Given the description of an element on the screen output the (x, y) to click on. 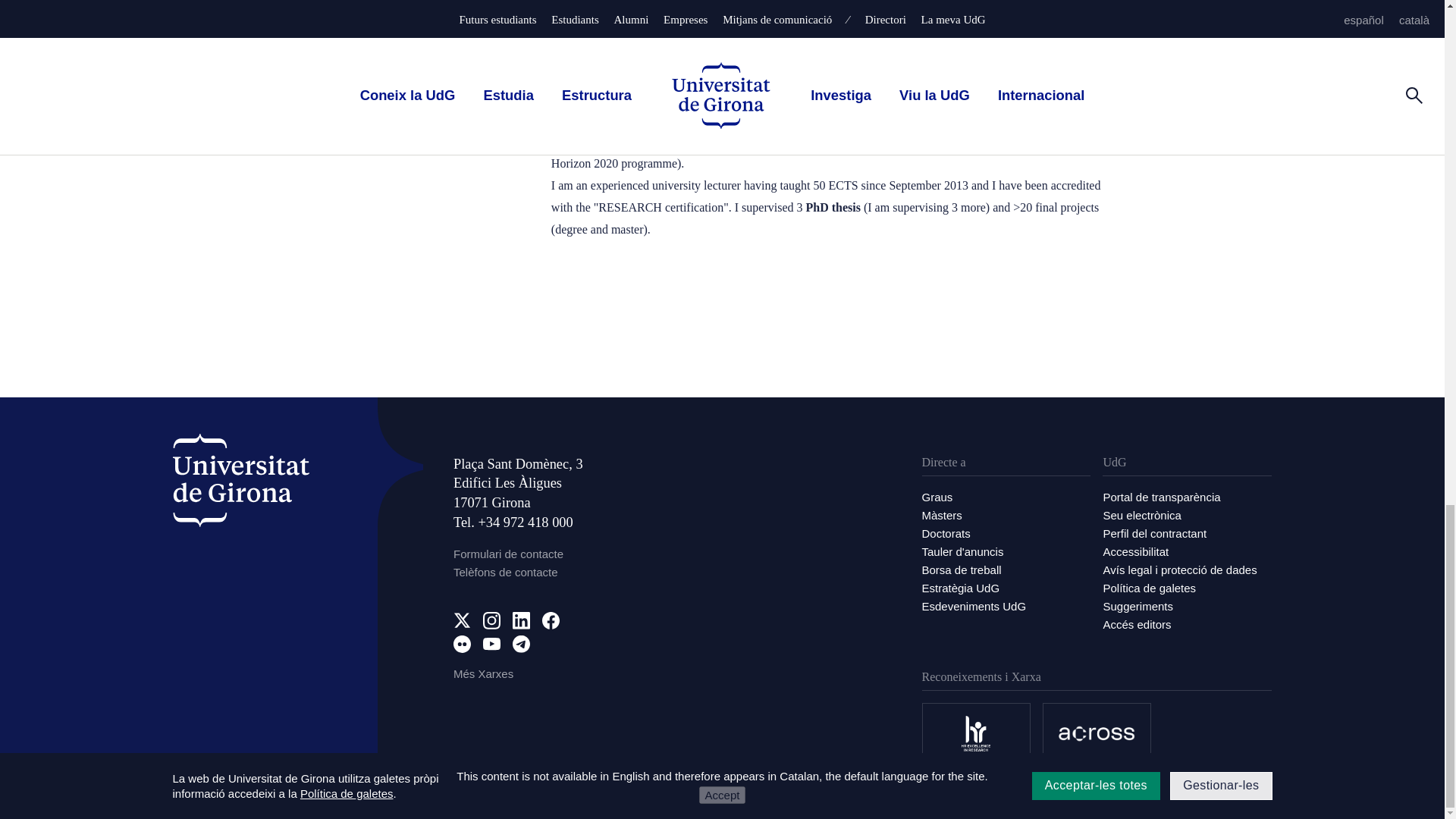
Perfil d'instagram de la UdG (491, 620)
Perfil de X de la UdG (461, 620)
Perfil de linkedin de la UdG (520, 620)
Perfil de Facebook de la UdG (550, 620)
Perfil de Youtube de la UdG (491, 643)
Universitat de Girona (240, 480)
Perfil de Flickr de la UdG (461, 643)
Perfil de Telegram de la UdG (520, 643)
